Given the description of an element on the screen output the (x, y) to click on. 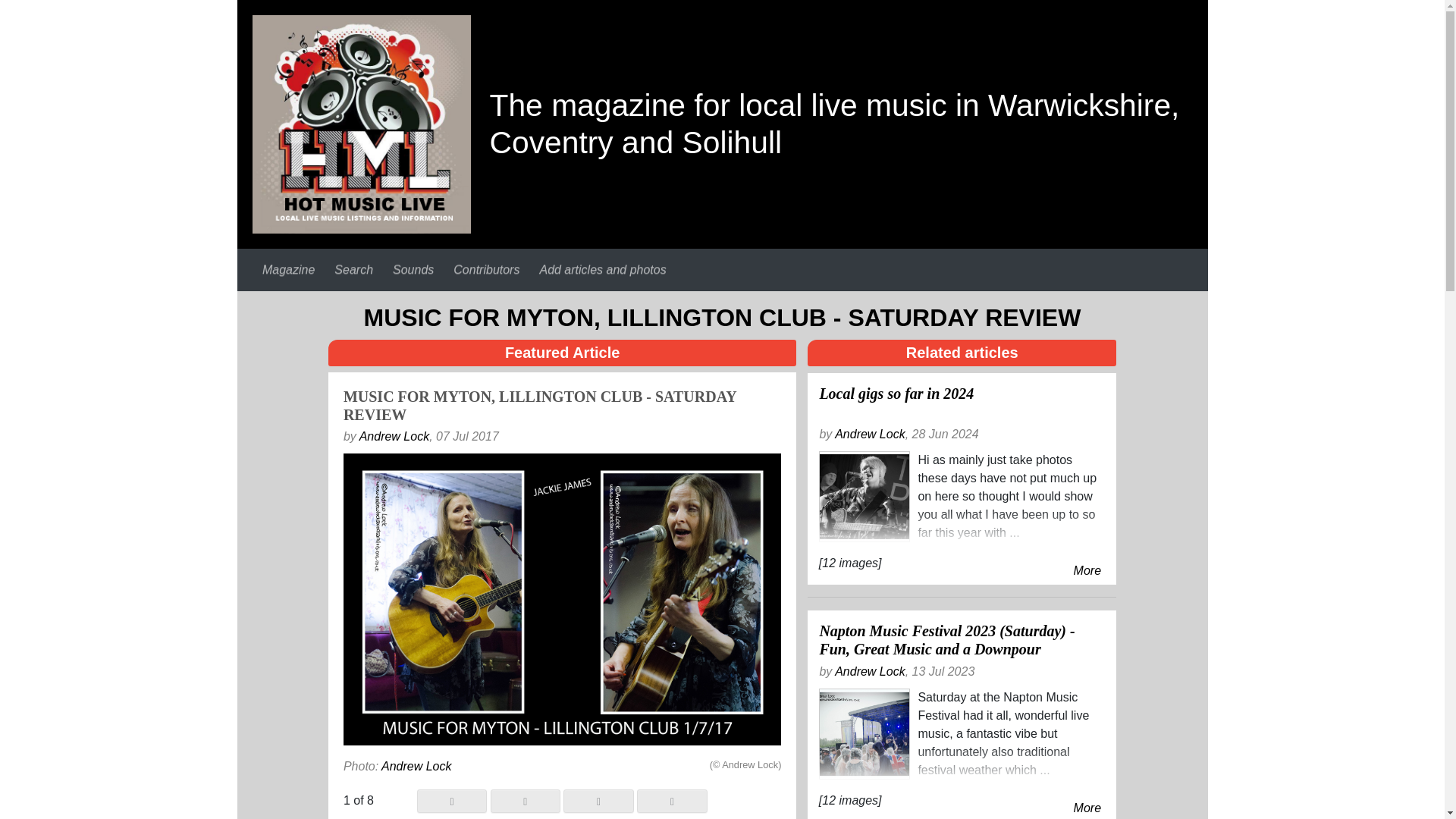
Contributors (485, 269)
Next photograph (671, 801)
Andrew Lock (869, 433)
Photo grid (525, 801)
Andrew Lock (416, 766)
Andrew Lock (869, 671)
Magazine (288, 269)
Add articles and photos (601, 269)
Search (353, 269)
Andrew Lock (394, 436)
Previous photograph (451, 801)
Zoom (598, 801)
Sounds (413, 269)
